Given the description of an element on the screen output the (x, y) to click on. 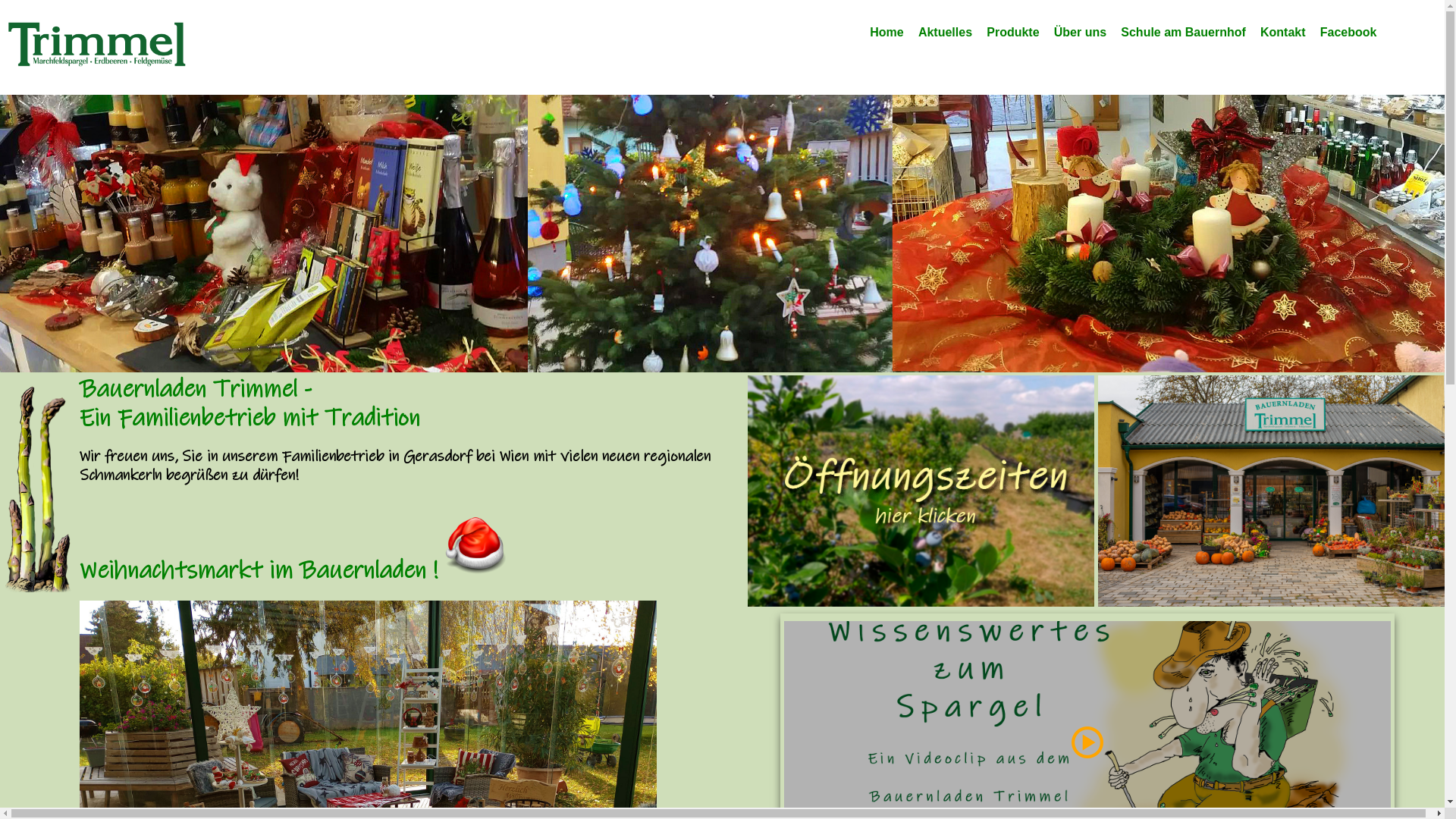
Schule am Bauernhof Element type: text (1183, 32)
Aktuelles Element type: text (944, 32)
Home Element type: text (886, 32)
Kontakt Element type: text (1282, 32)
Produkte Element type: text (1013, 32)
Facebook Element type: text (1347, 32)
